Given the description of an element on the screen output the (x, y) to click on. 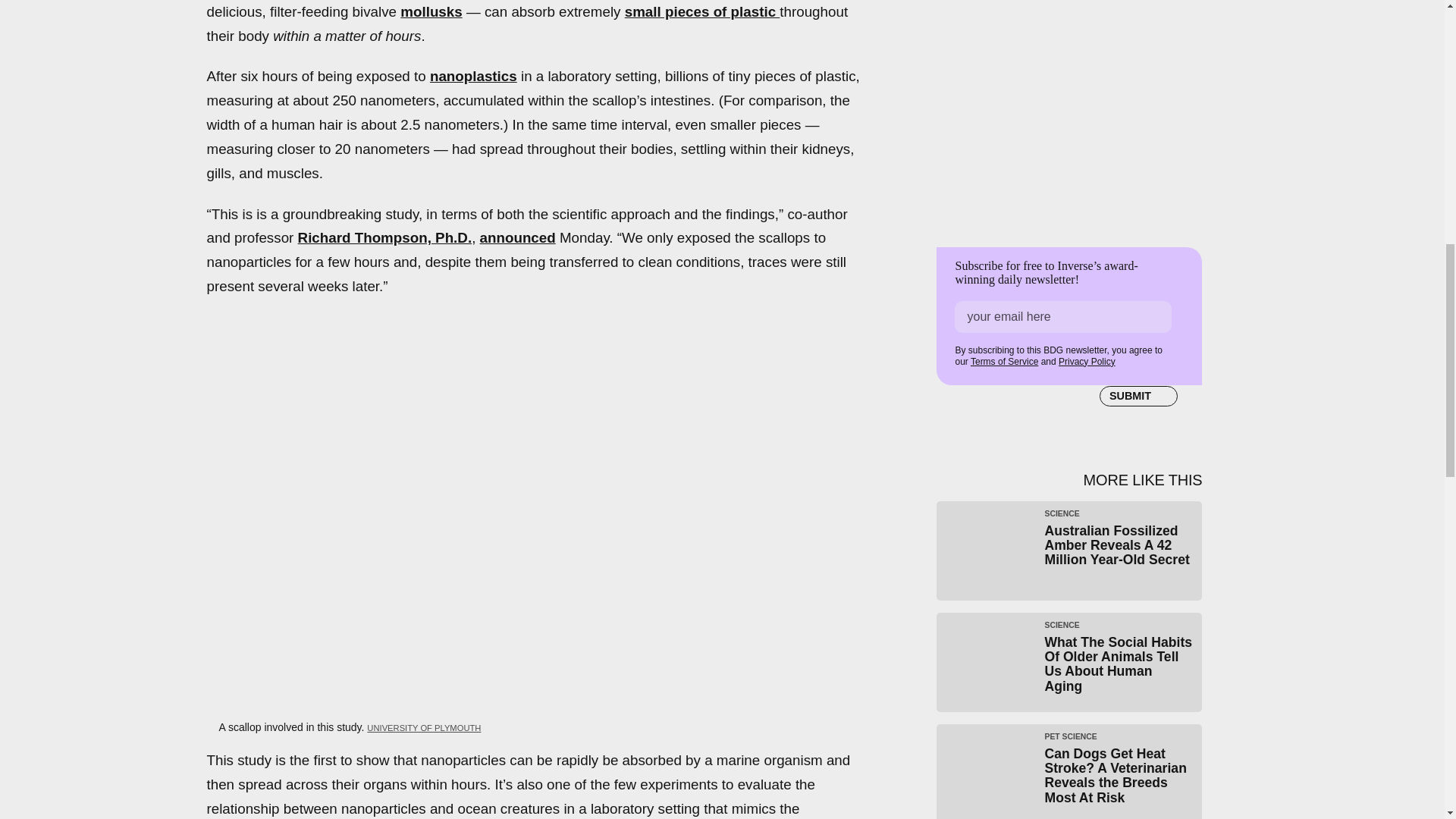
nanoplastics (472, 75)
UNIVERSITY OF PLYMOUTH (423, 727)
Privacy Policy (1086, 361)
mollusks (430, 11)
announced (518, 237)
Terms of Service (1004, 361)
SUBMIT (1138, 396)
Richard Thompson, Ph.D. (384, 237)
small pieces of plastic (702, 11)
